Given the description of an element on the screen output the (x, y) to click on. 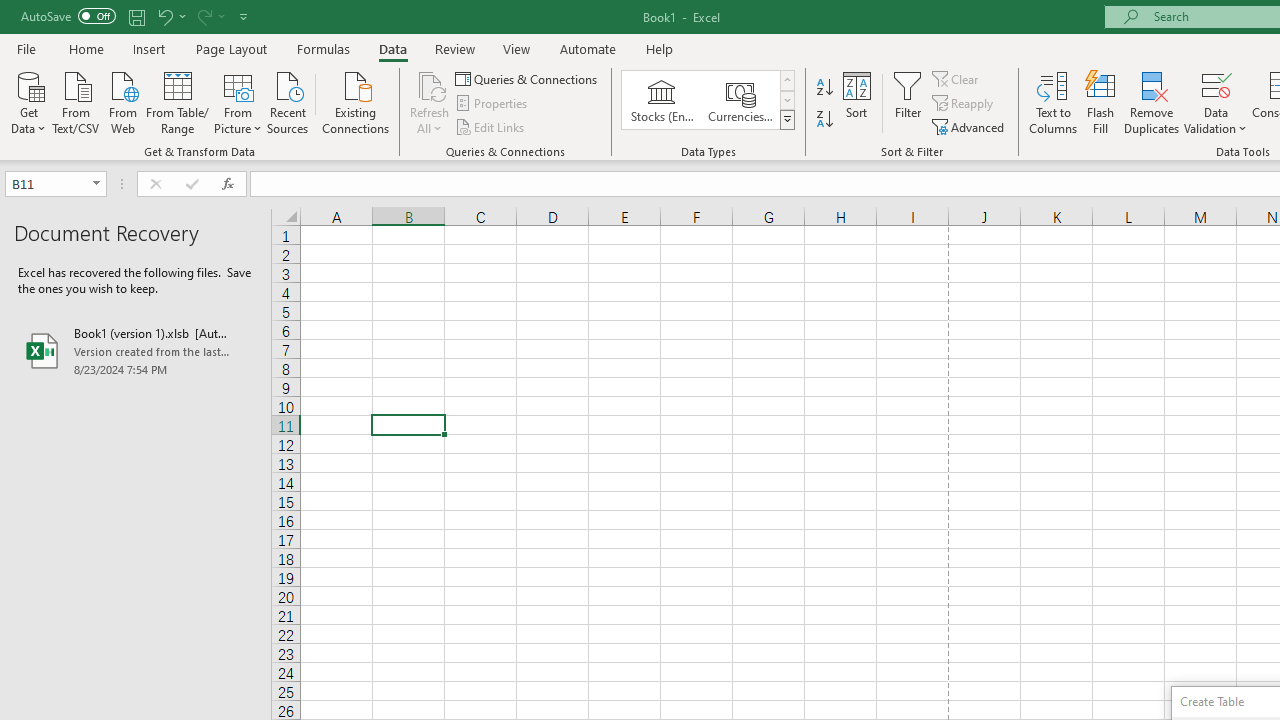
Clear (957, 78)
Properties (492, 103)
Redo (203, 15)
Save (136, 15)
From Web (122, 101)
Sort A to Z (824, 87)
Text to Columns... (1053, 102)
File Tab (26, 48)
Help (660, 48)
System (10, 11)
Sort... (856, 102)
AutoSave (68, 16)
Currencies (English) (740, 100)
View (517, 48)
